Given the description of an element on the screen output the (x, y) to click on. 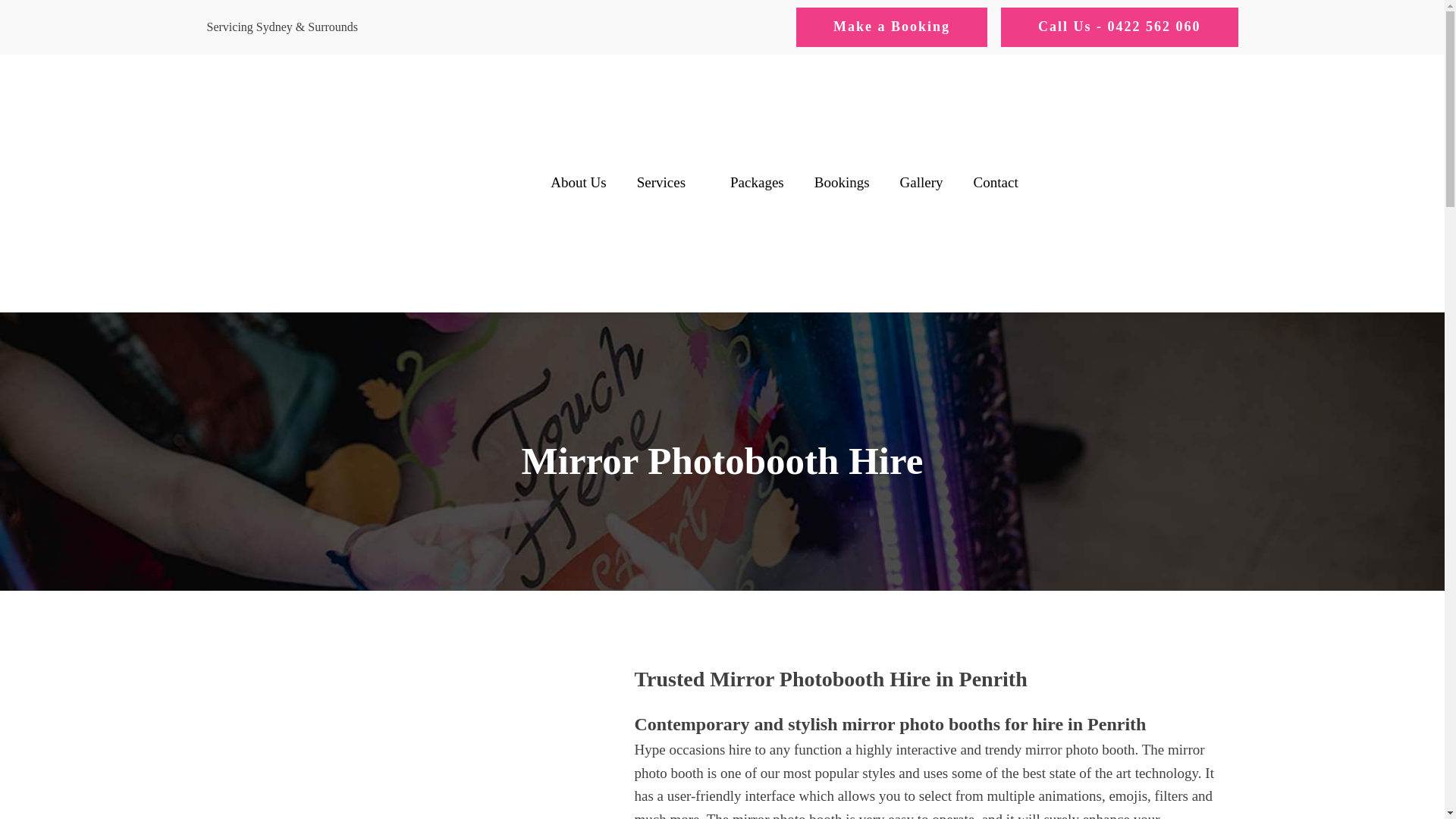
Packages (756, 182)
About Us (578, 182)
Call Us - 0422 562 060 (1120, 26)
Gallery (921, 182)
Bookings (842, 182)
Services (667, 182)
Make a Booking (891, 26)
Contact (995, 182)
